Given the description of an element on the screen output the (x, y) to click on. 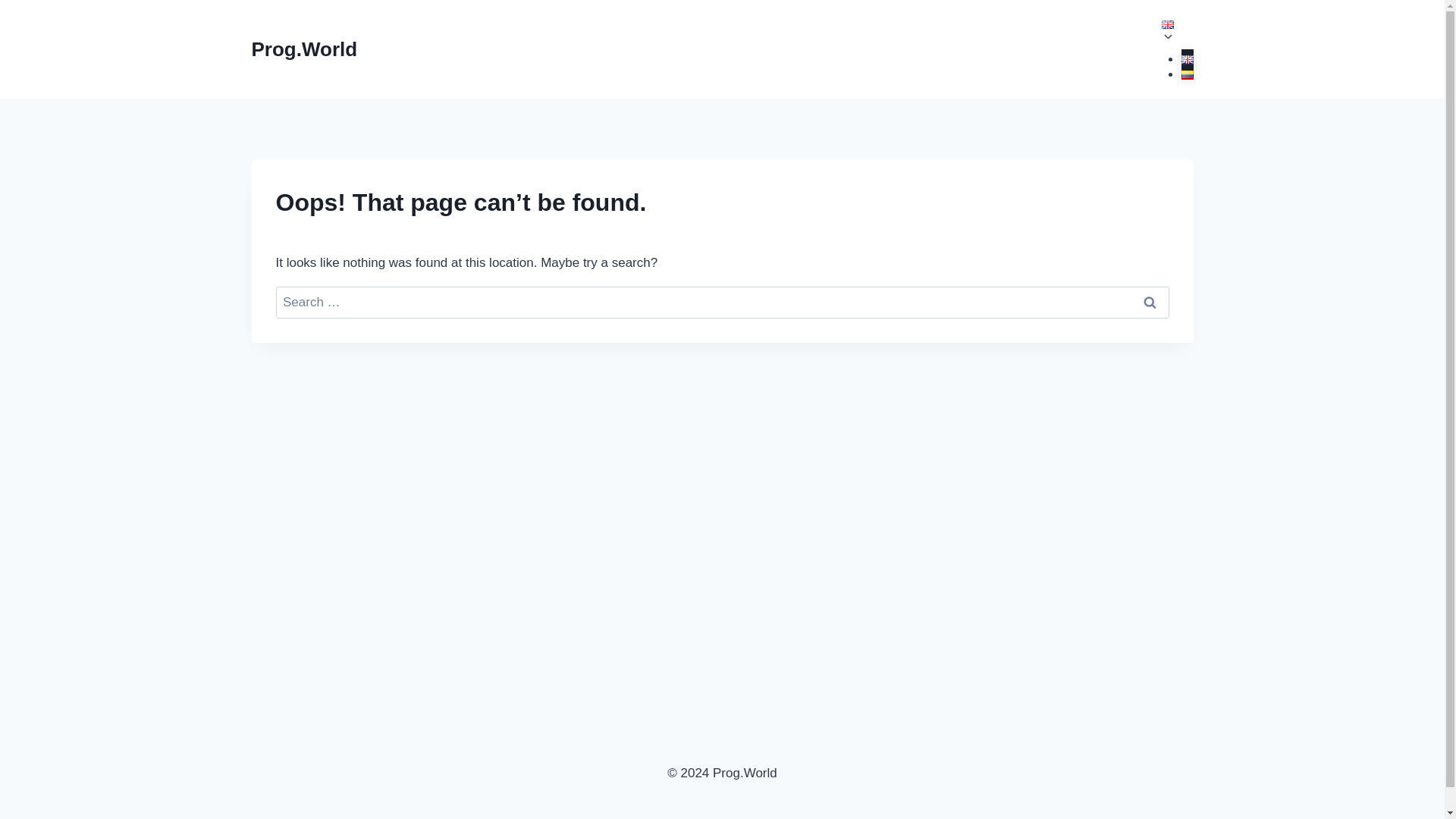
Search (1150, 302)
Search (1150, 302)
Prog.World (304, 49)
Search (1150, 302)
